Given the description of an element on the screen output the (x, y) to click on. 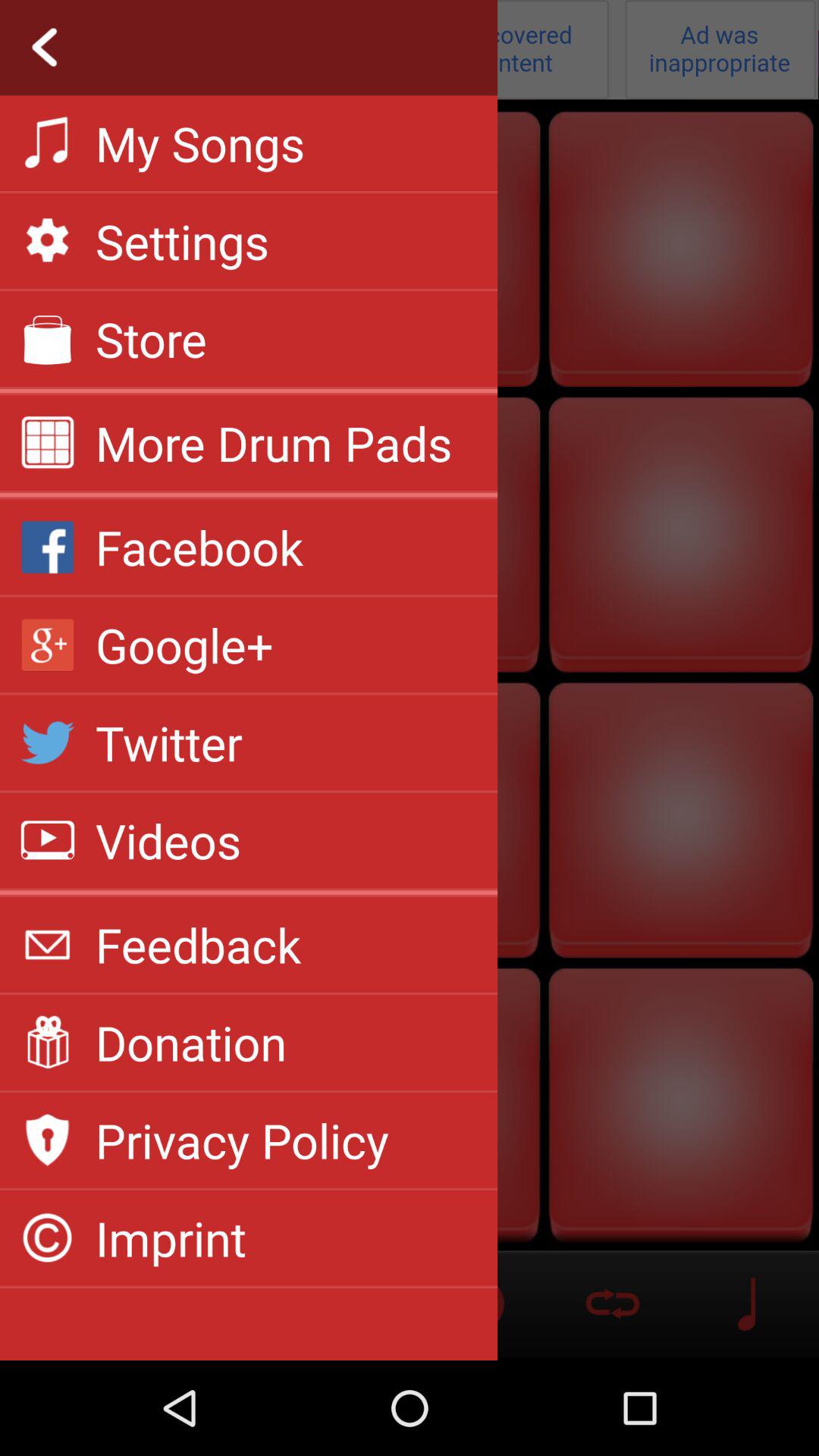
flip to google+ (184, 644)
